Given the description of an element on the screen output the (x, y) to click on. 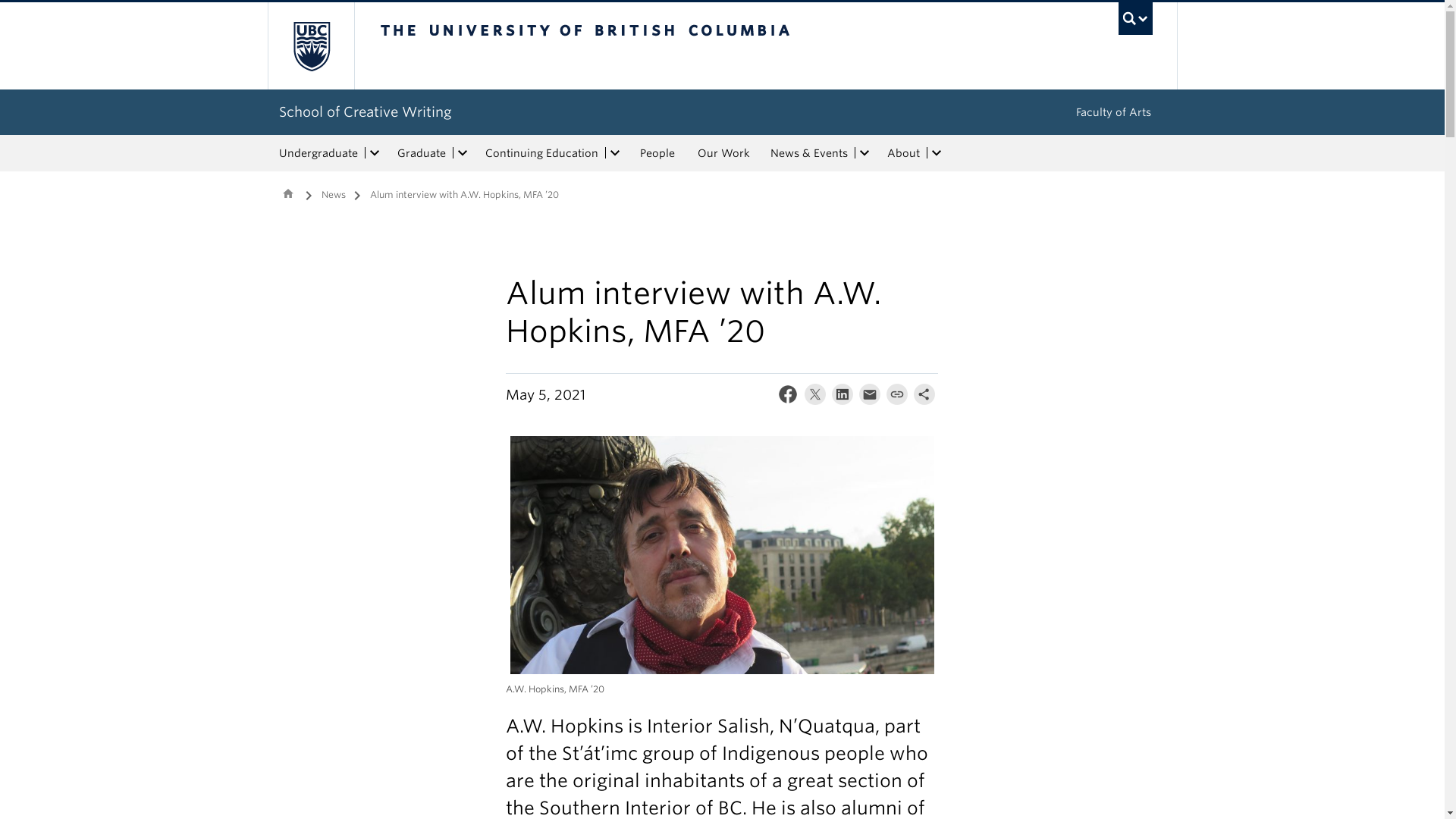
Faculty of Arts (1112, 112)
News (333, 197)
Email (869, 397)
Copy Link (897, 397)
LinkedIn (842, 397)
Twitter (815, 397)
The University of British Columbia (635, 45)
Undergraduate (315, 153)
Creative Writing (288, 193)
Our Work (722, 153)
Continuing Education (540, 153)
About (900, 153)
UBC Search (1135, 18)
Graduate (419, 153)
People (656, 153)
